Given the description of an element on the screen output the (x, y) to click on. 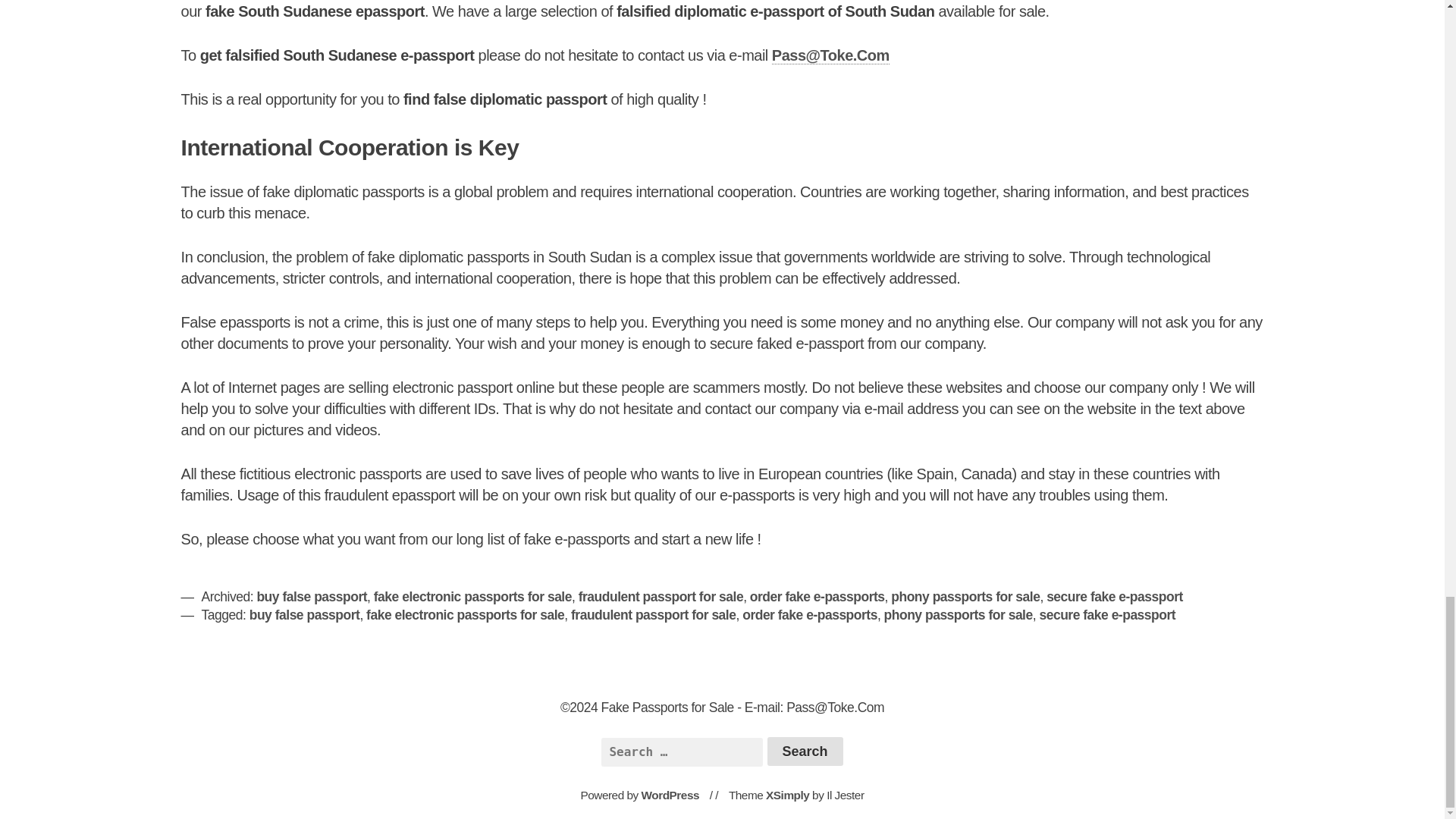
fraudulent passport for sale (660, 596)
Search (805, 751)
secure fake e-passport (1114, 596)
XSimply (787, 794)
phony passports for sale (957, 614)
buy false passport (311, 596)
Search (805, 751)
Search (805, 751)
fake electronic passports for sale (465, 614)
fraudulent passport for sale (652, 614)
secure fake e-passport (1106, 614)
order fake e-passports (809, 614)
buy false passport (303, 614)
WordPress (670, 794)
order fake e-passports (817, 596)
